Given the description of an element on the screen output the (x, y) to click on. 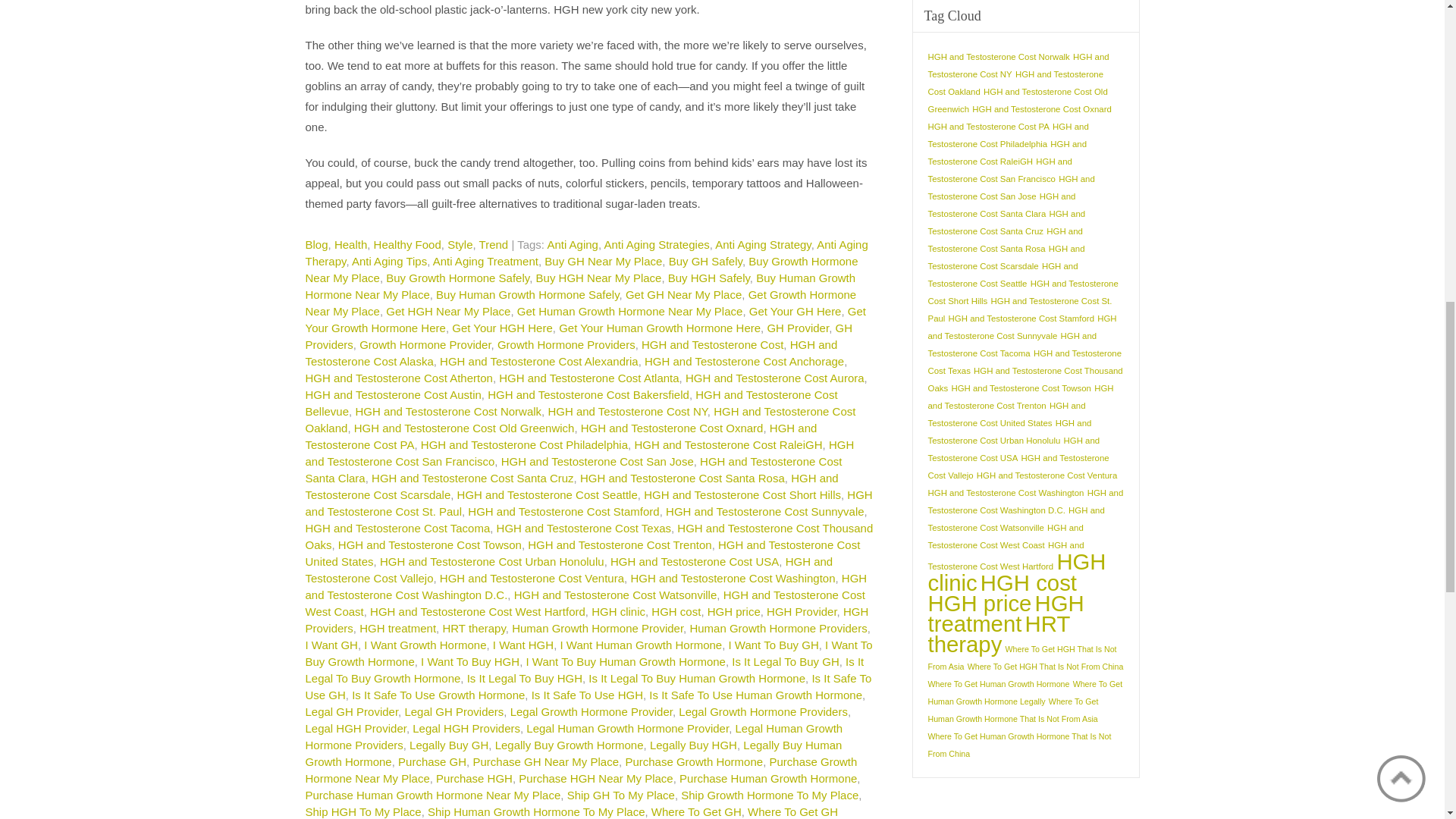
View all posts in Blog (315, 244)
View all posts in Health (350, 244)
View all posts in Style (458, 244)
View all posts in Trend (493, 244)
View all posts in Healthy Food (407, 244)
